Given the description of an element on the screen output the (x, y) to click on. 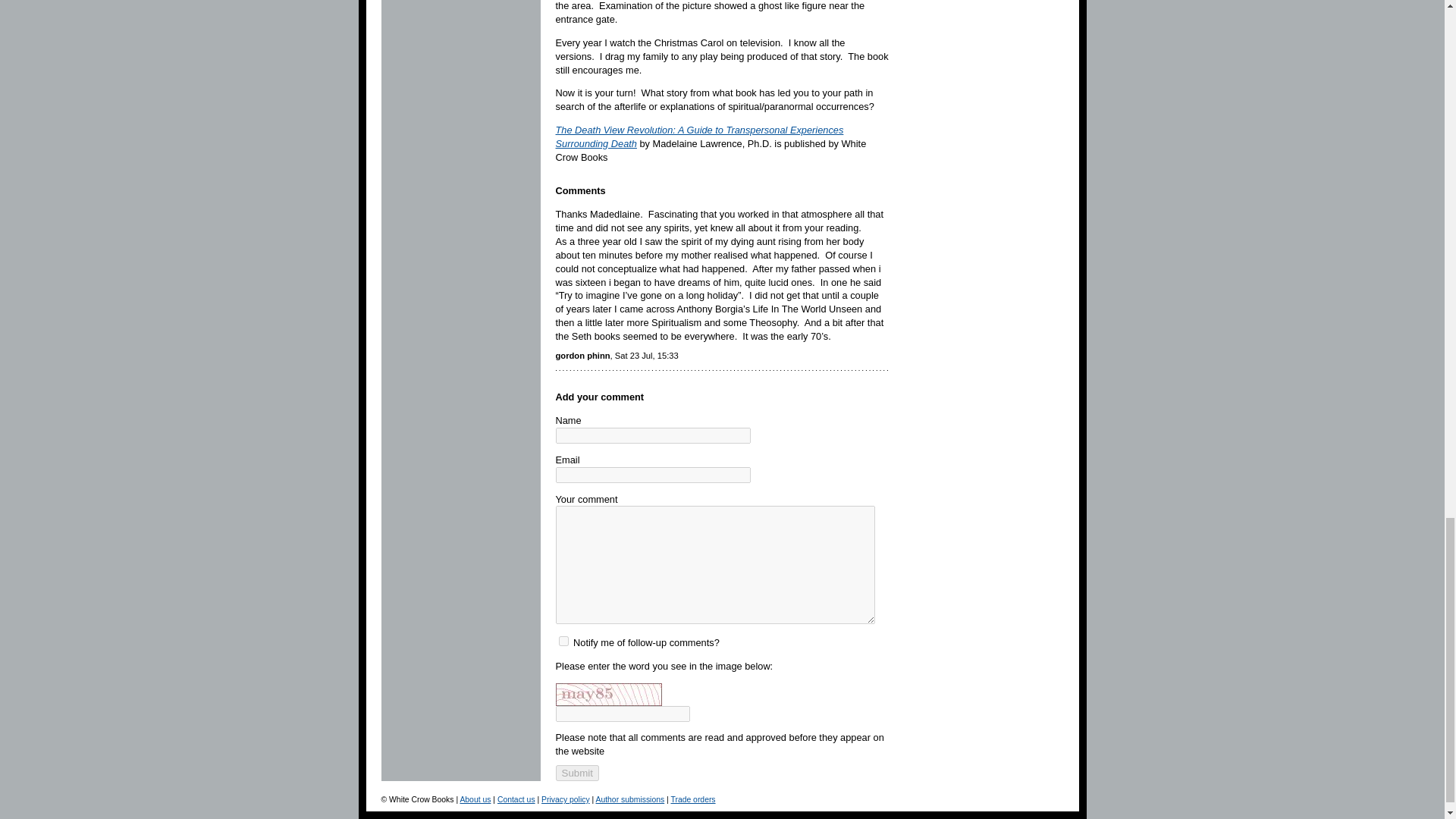
Author submissions (630, 799)
Submit (576, 772)
yes (562, 641)
About us (475, 799)
Privacy policy (565, 799)
Trade orders (691, 799)
Submit (576, 772)
Contact us (516, 799)
